Given the description of an element on the screen output the (x, y) to click on. 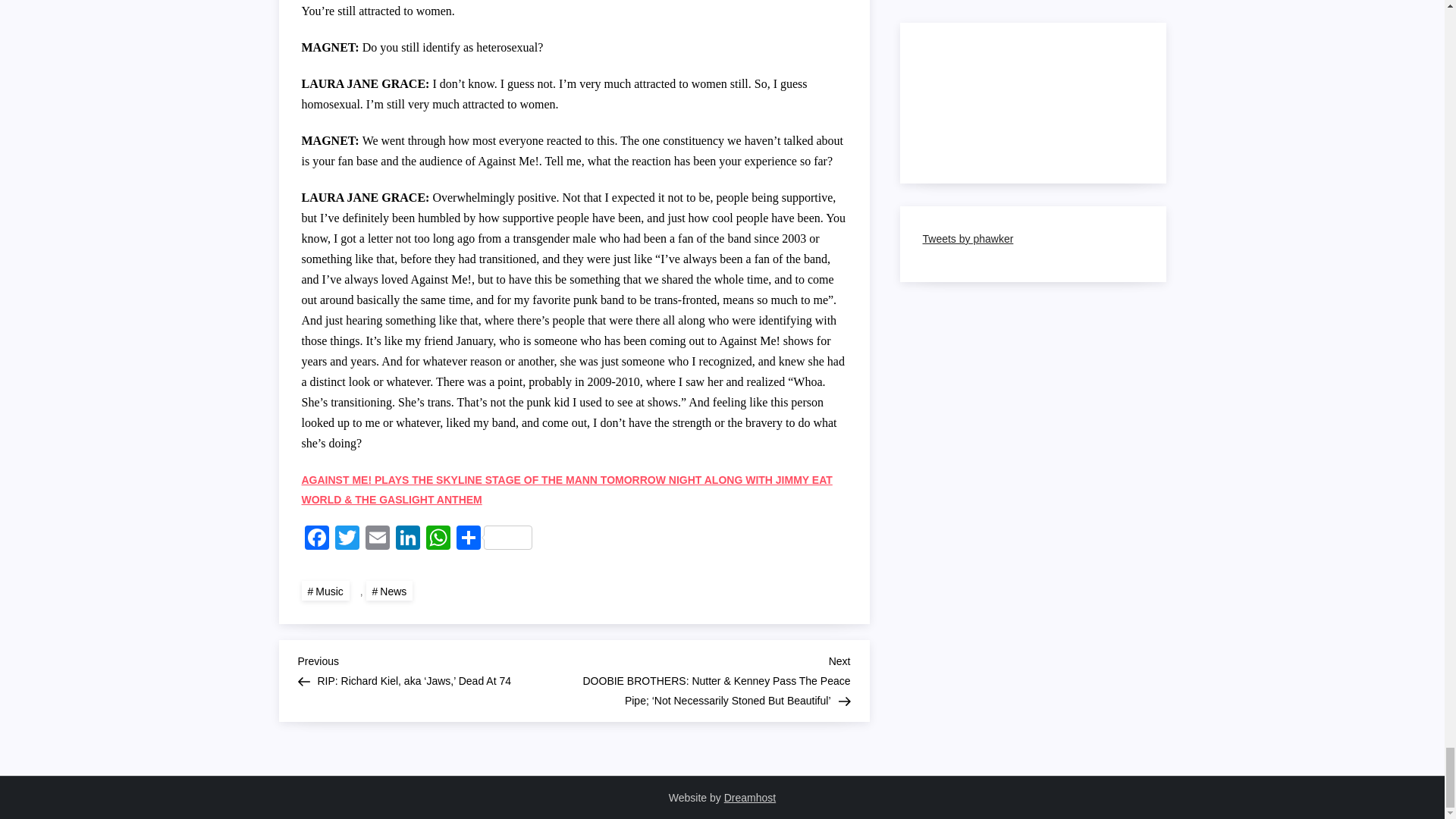
Share (493, 539)
Facebook (316, 539)
WhatsApp (437, 539)
Dreamhost (749, 797)
Music (325, 590)
Twitter (346, 539)
News (389, 590)
Email (377, 539)
Facebook (316, 539)
LinkedIn (408, 539)
Twitter (346, 539)
LinkedIn (408, 539)
WhatsApp (437, 539)
Email (377, 539)
